Given the description of an element on the screen output the (x, y) to click on. 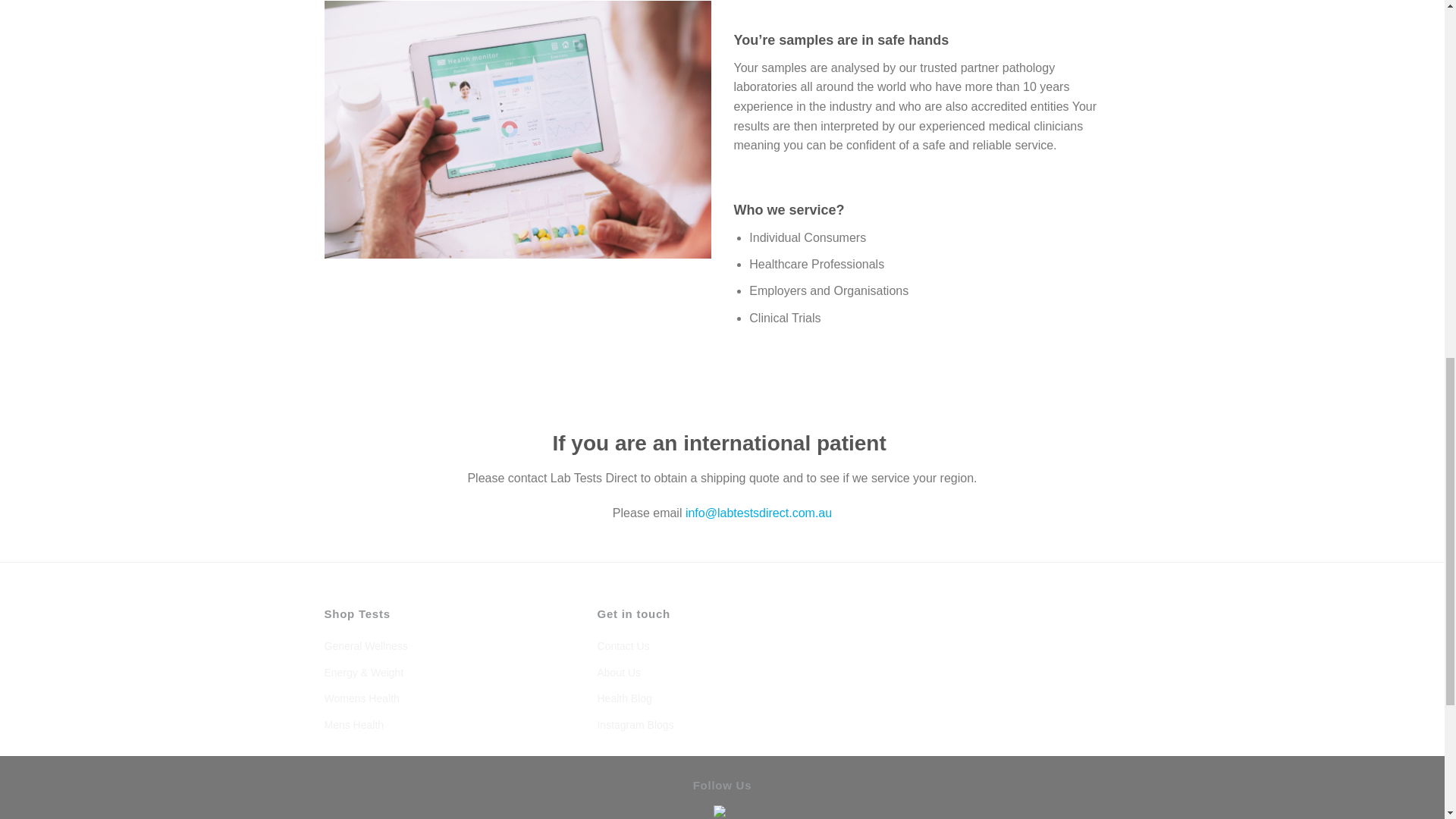
About Us (618, 672)
Womens Health (361, 698)
General Wellness (365, 646)
Mens Health (354, 724)
Contact Us (622, 646)
Health Blog (623, 698)
Instagram Blogs (634, 724)
